Given the description of an element on the screen output the (x, y) to click on. 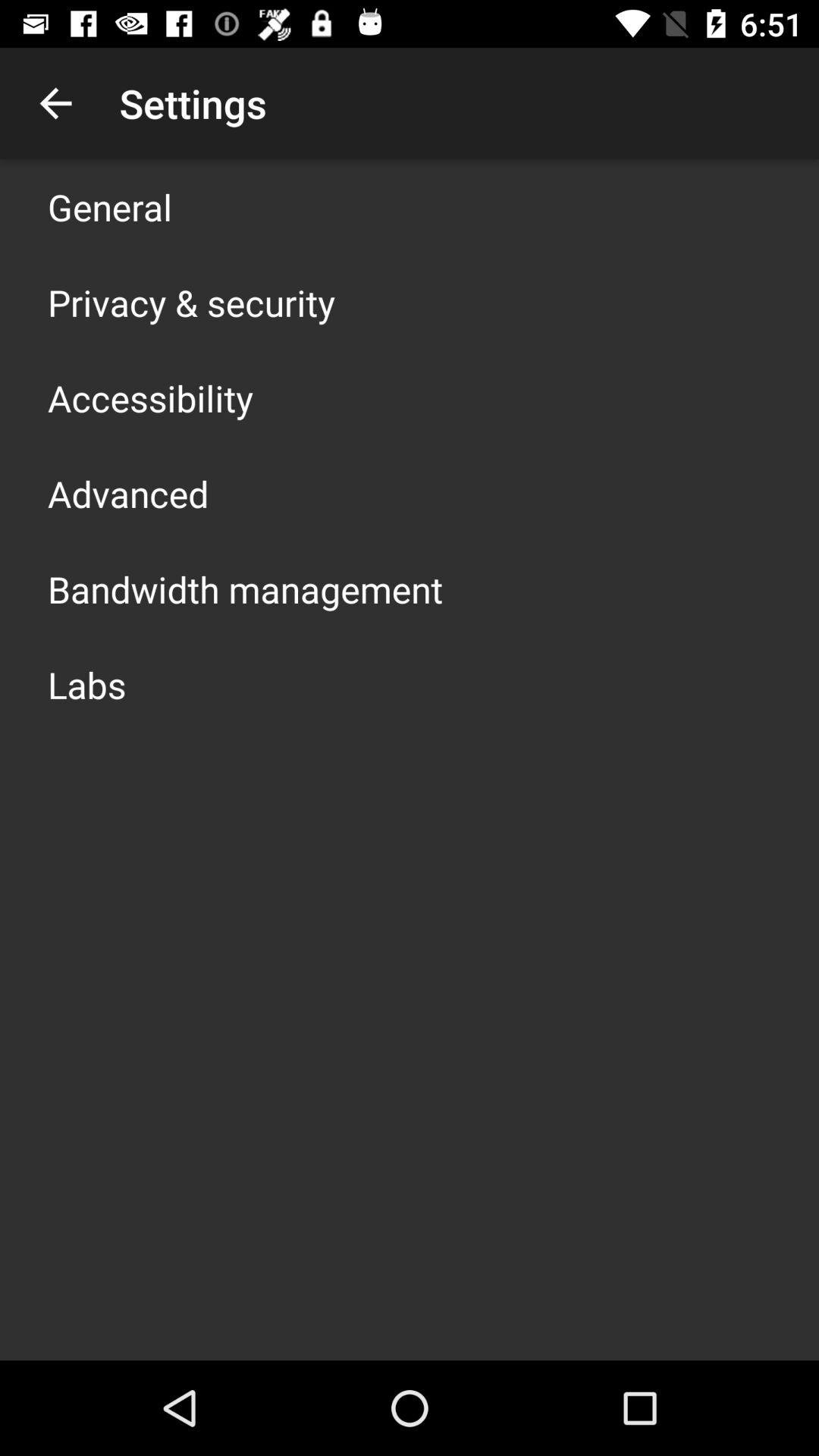
open app above general icon (55, 103)
